Given the description of an element on the screen output the (x, y) to click on. 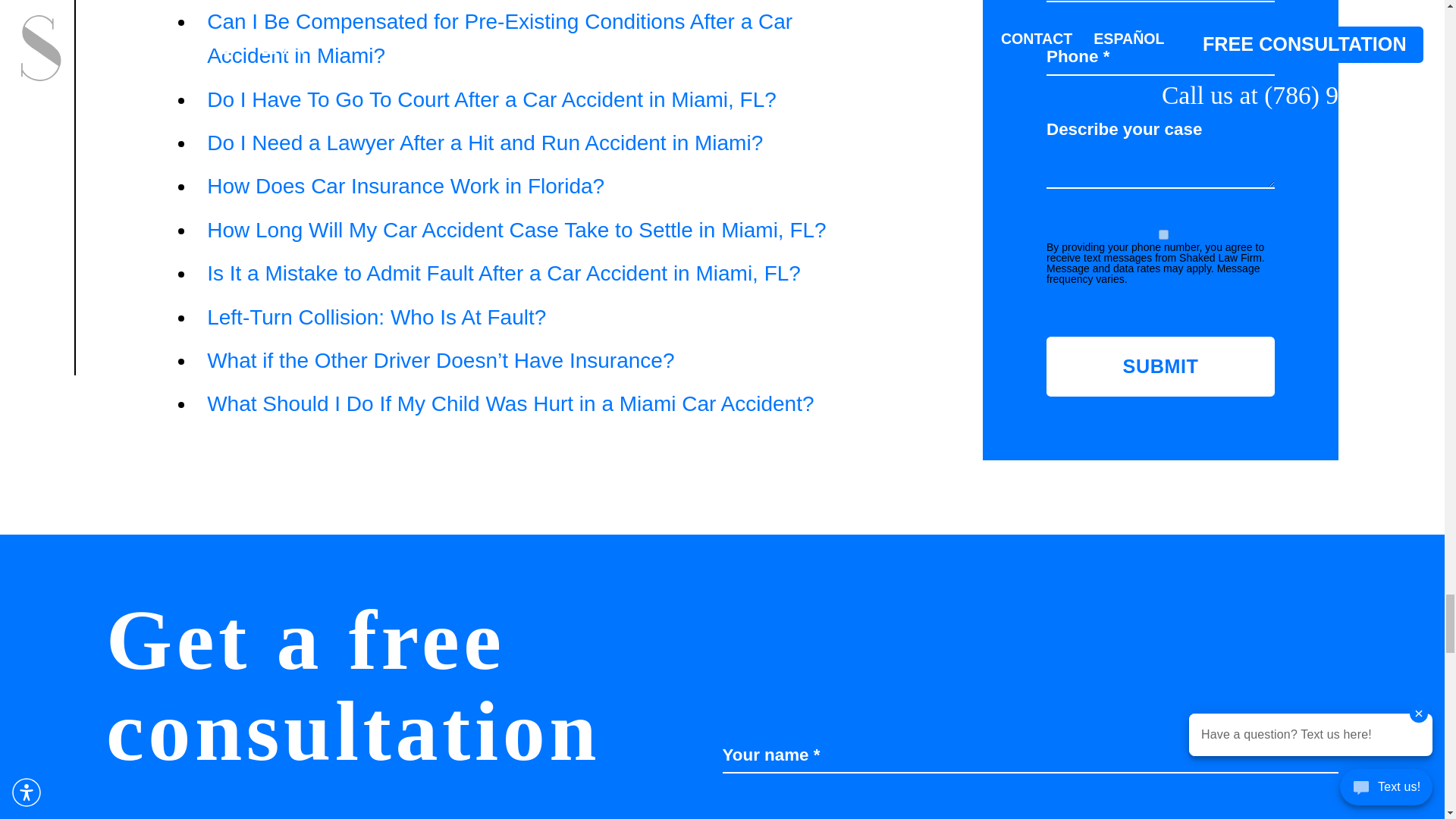
Submit (1160, 366)
1 (1163, 234)
